Given the description of an element on the screen output the (x, y) to click on. 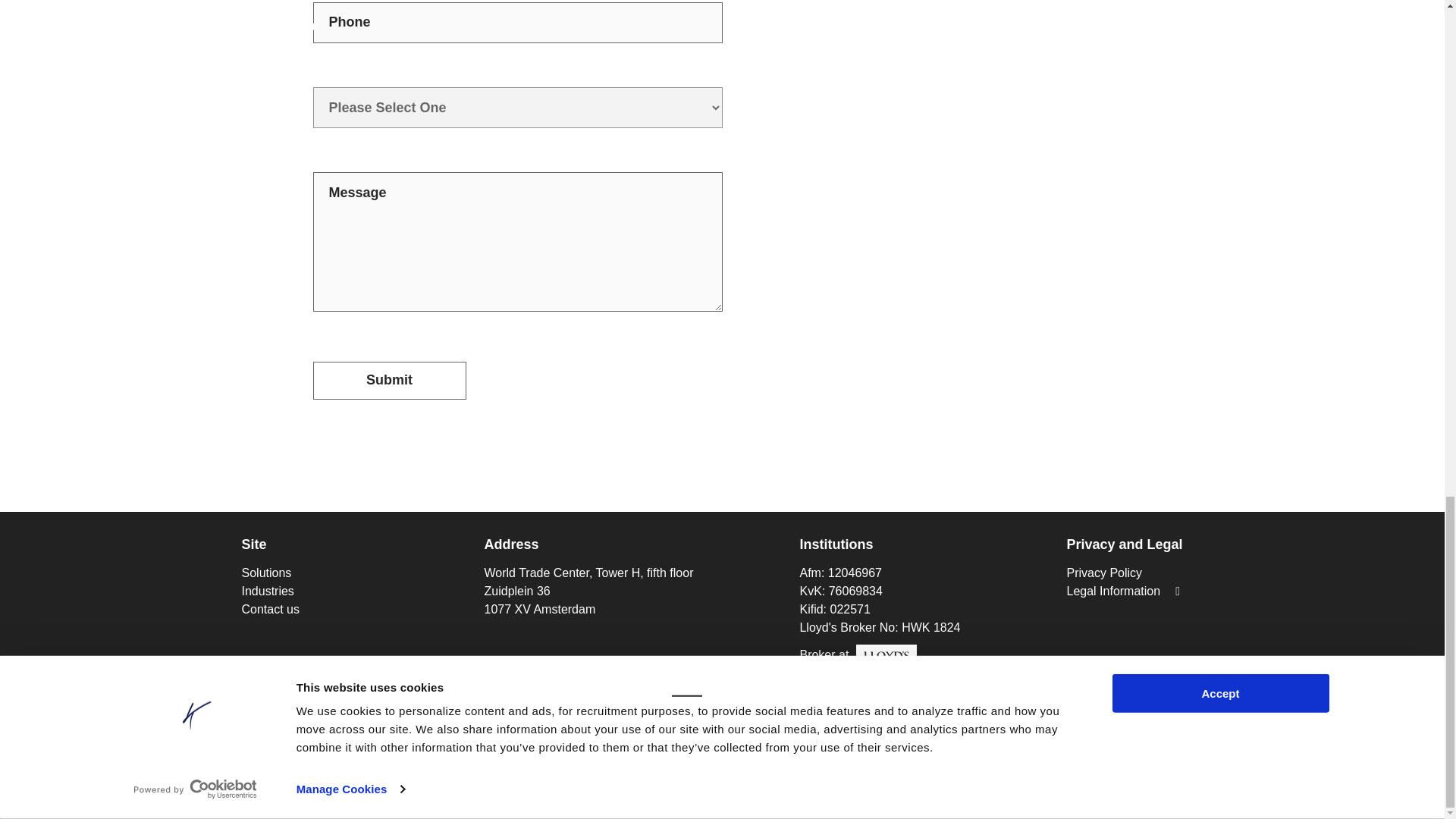
Submit (389, 380)
